Given the description of an element on the screen output the (x, y) to click on. 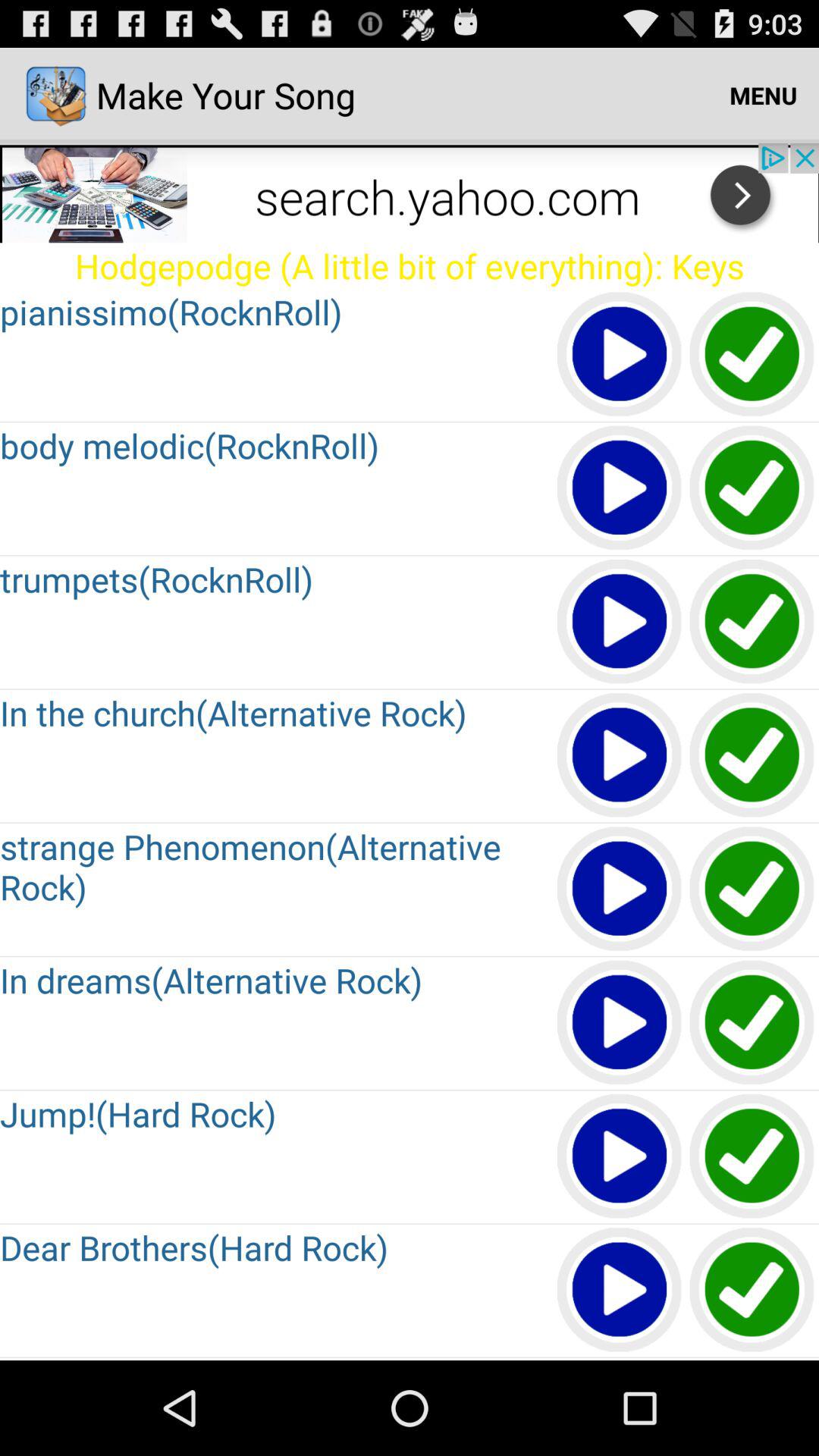
check button (752, 889)
